Given the description of an element on the screen output the (x, y) to click on. 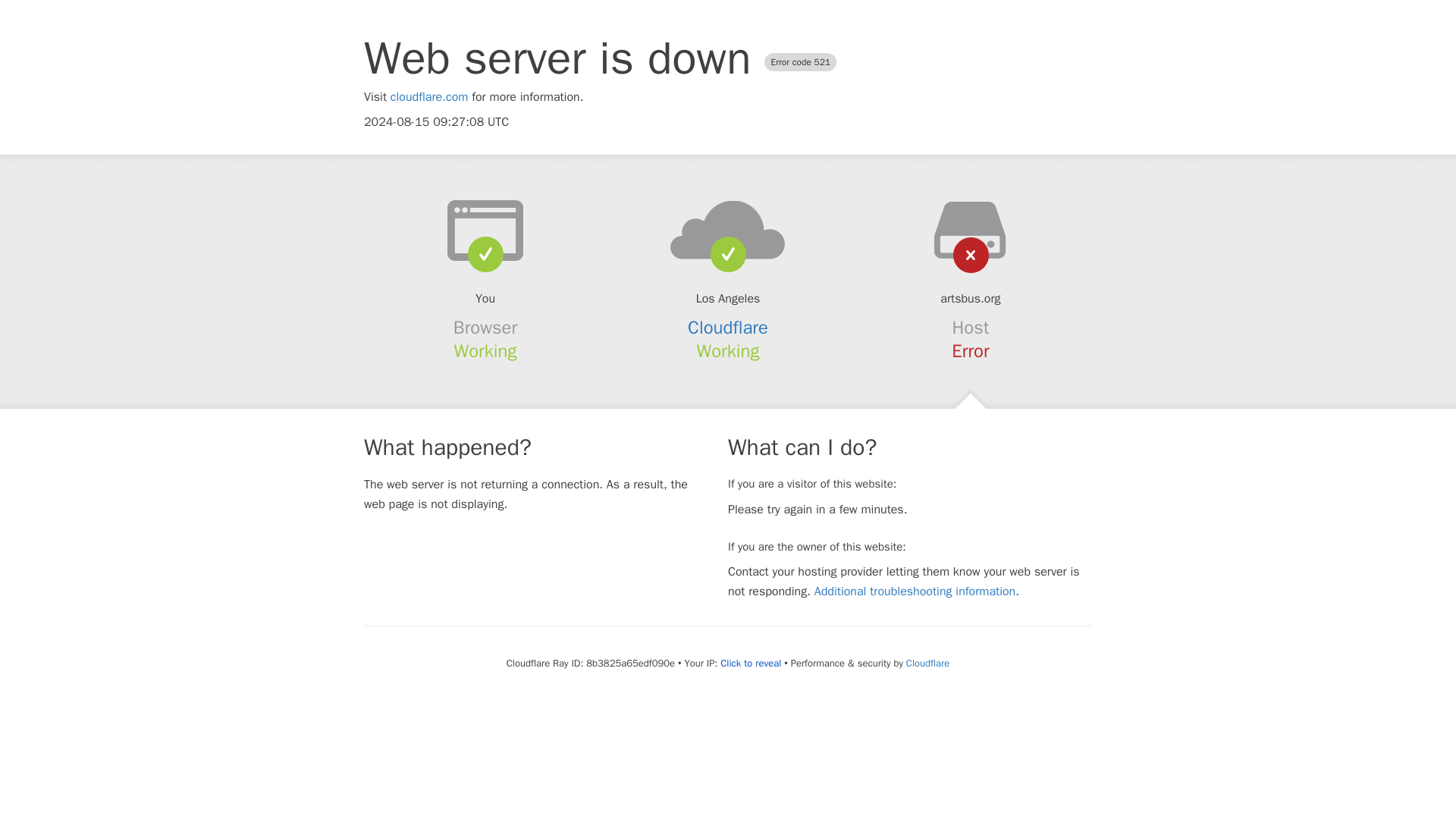
Cloudflare (927, 662)
cloudflare.com (429, 96)
Click to reveal (750, 663)
Cloudflare (727, 327)
Additional troubleshooting information (913, 590)
